Given the description of an element on the screen output the (x, y) to click on. 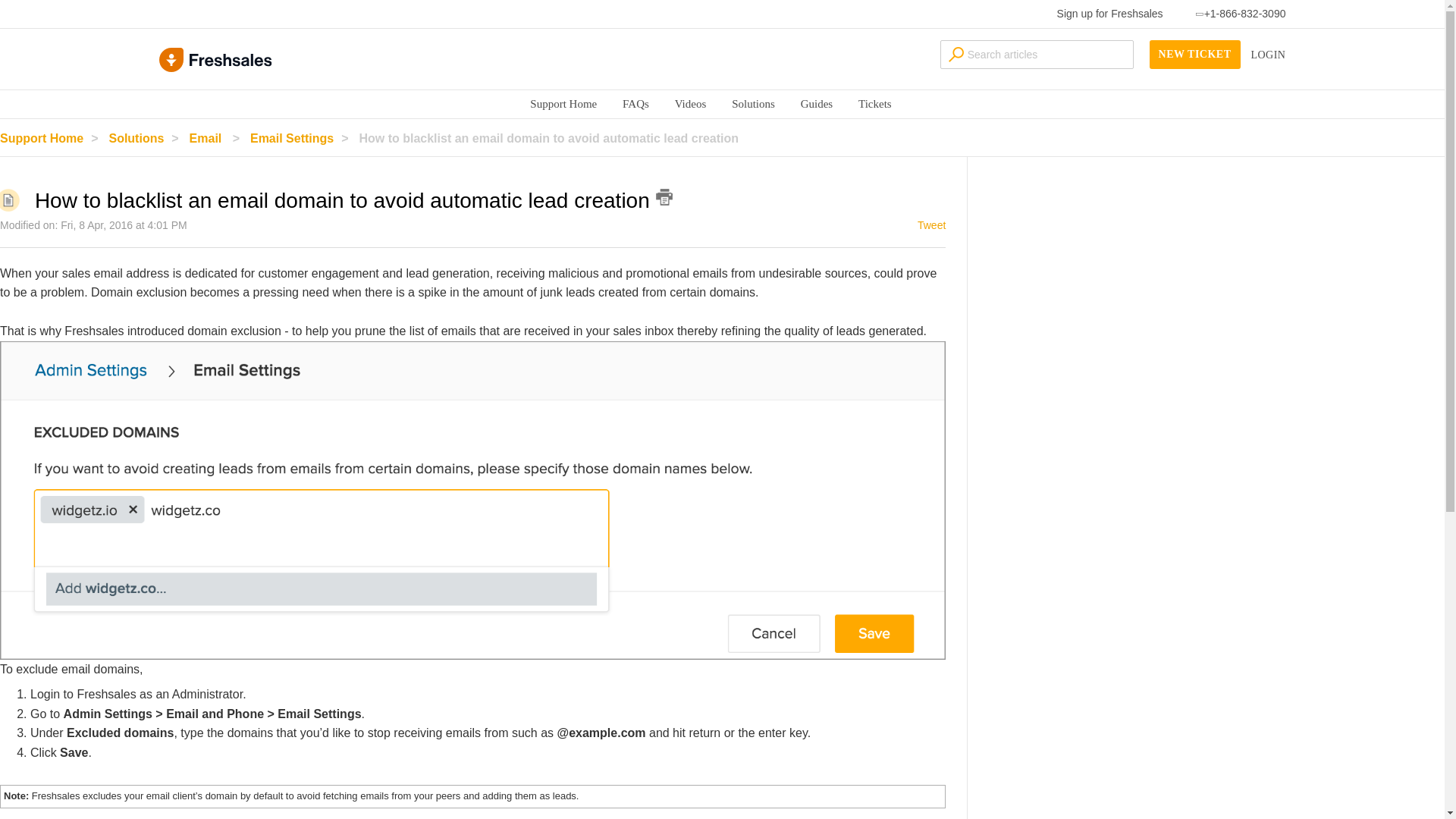
FAQs (636, 103)
Solutions (753, 103)
Tickets (875, 103)
LOGIN (1267, 55)
Email (218, 137)
Tweet (930, 224)
Solutions (753, 103)
Videos (690, 103)
Support Home (562, 103)
Support Home (562, 103)
Videos (690, 103)
Guides (816, 103)
Solutions (753, 103)
Print this Article (664, 197)
FAQs (636, 103)
